Given the description of an element on the screen output the (x, y) to click on. 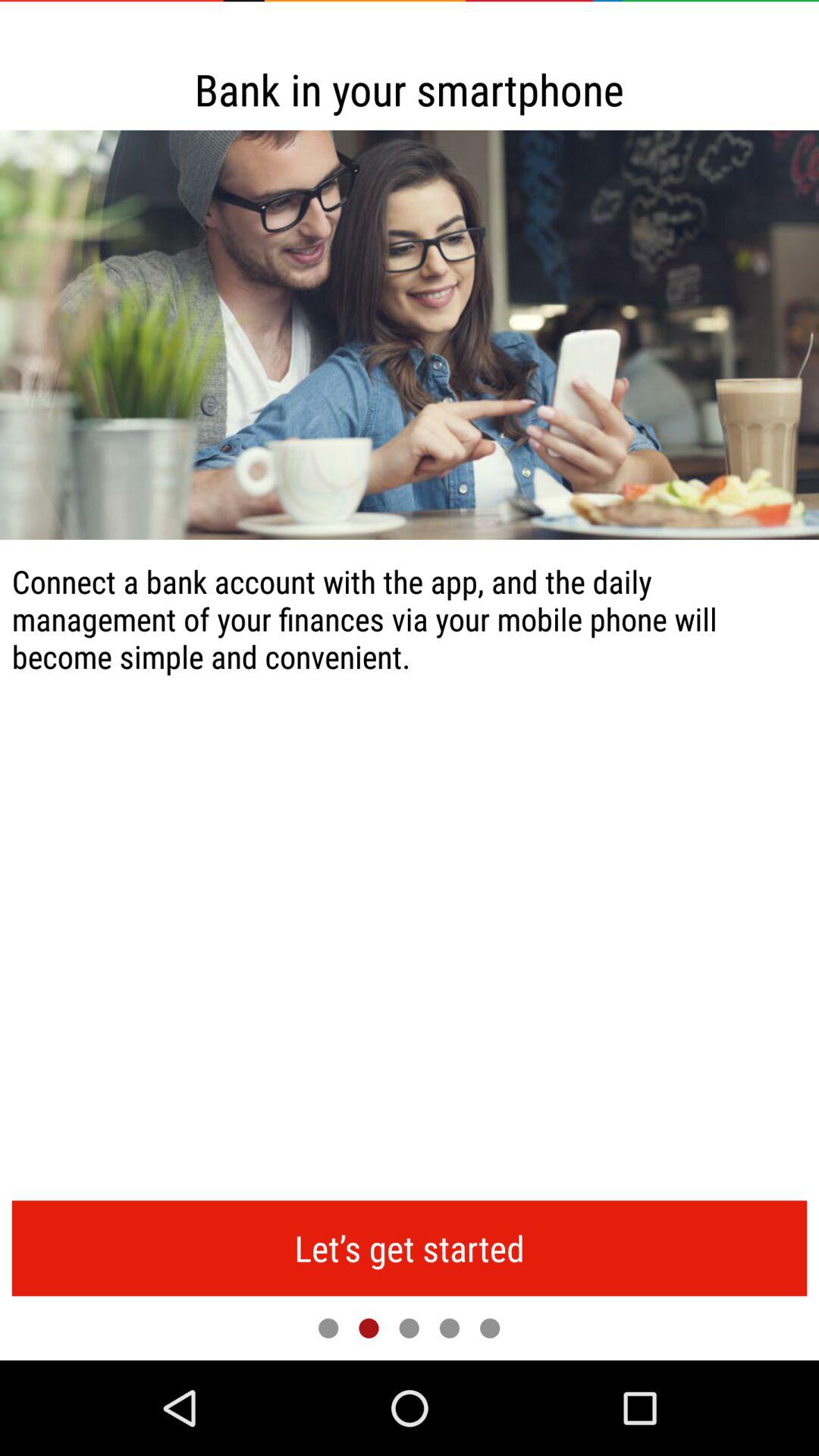
open item below let s get button (368, 1328)
